Given the description of an element on the screen output the (x, y) to click on. 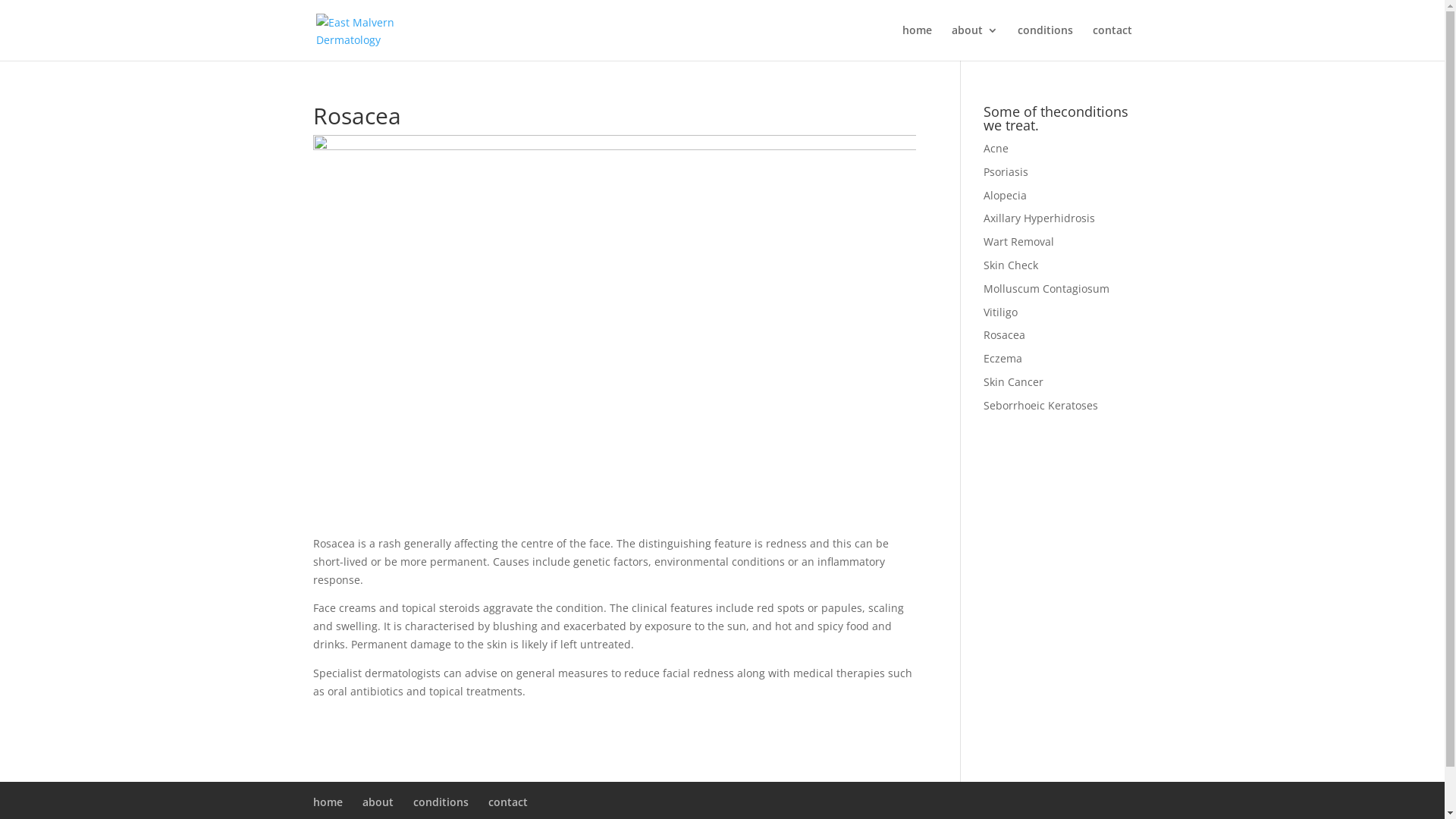
home Element type: text (916, 42)
Wart Removal Element type: text (1018, 241)
Alopecia Element type: text (1004, 195)
contact Element type: text (507, 801)
about Element type: text (377, 801)
Skin Check Element type: text (1010, 264)
Vitiligo Element type: text (1000, 311)
Axillary Hyperhidrosis Element type: text (1039, 217)
conditions Element type: text (439, 801)
contact Element type: text (1111, 42)
Psoriasis Element type: text (1005, 171)
Molluscum Contagiosum Element type: text (1046, 288)
Seborrhoeic Keratoses Element type: text (1040, 405)
about Element type: text (973, 42)
conditions Element type: text (1045, 42)
Skin Cancer Element type: text (1013, 381)
home Element type: text (327, 801)
Rosacea Element type: text (1004, 334)
Acne Element type: text (995, 148)
Eczema Element type: text (1002, 358)
